Given the description of an element on the screen output the (x, y) to click on. 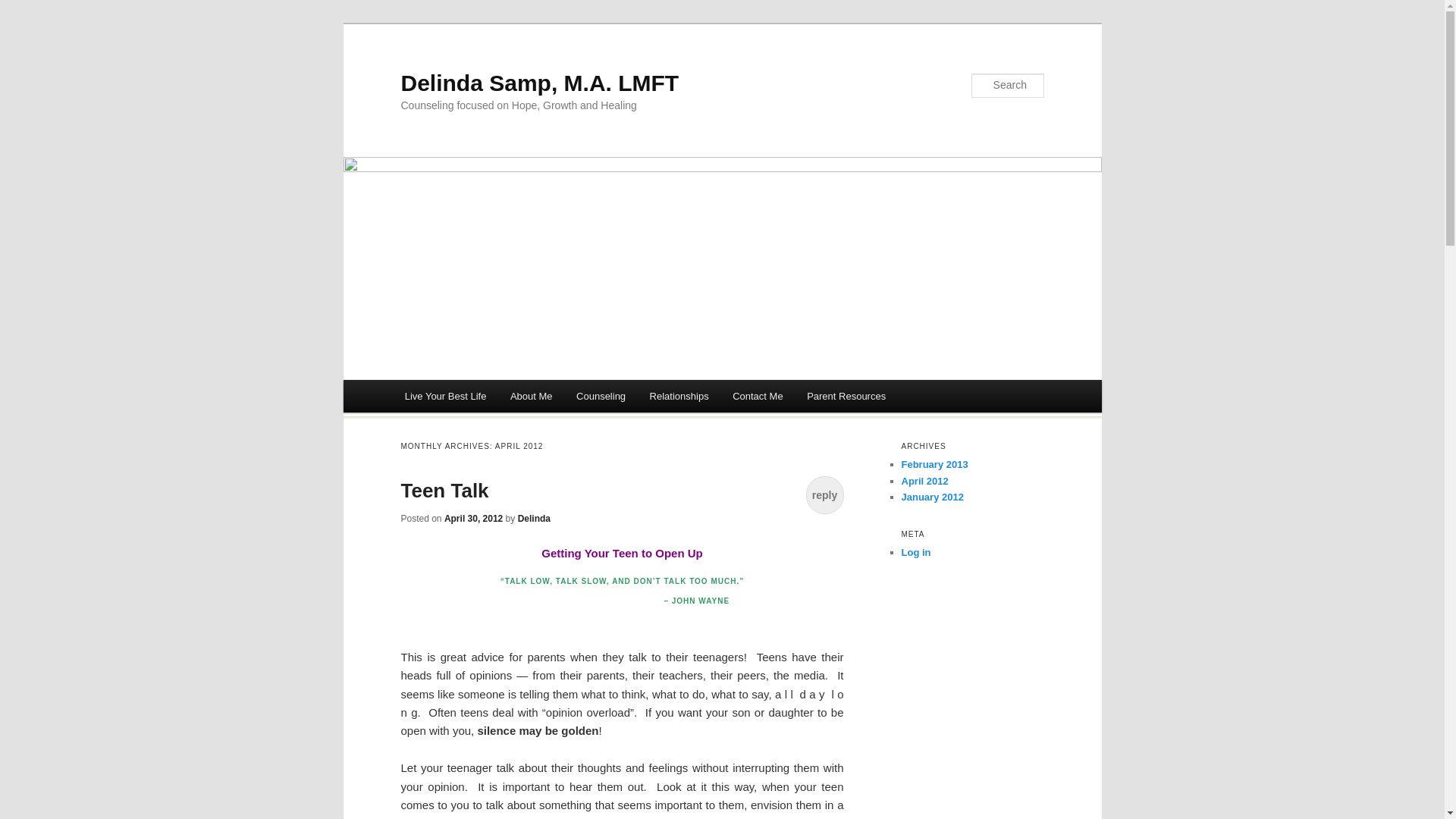
Delinda Samp, M.A. LMFT (539, 82)
reply (824, 494)
Contact Me (757, 396)
About Me (530, 396)
Counseling (600, 396)
Teen Talk (443, 490)
April 30, 2012 (473, 518)
Relationships (678, 396)
Delinda Samp, M.A. LMFT (539, 82)
Log in (915, 552)
